Given the description of an element on the screen output the (x, y) to click on. 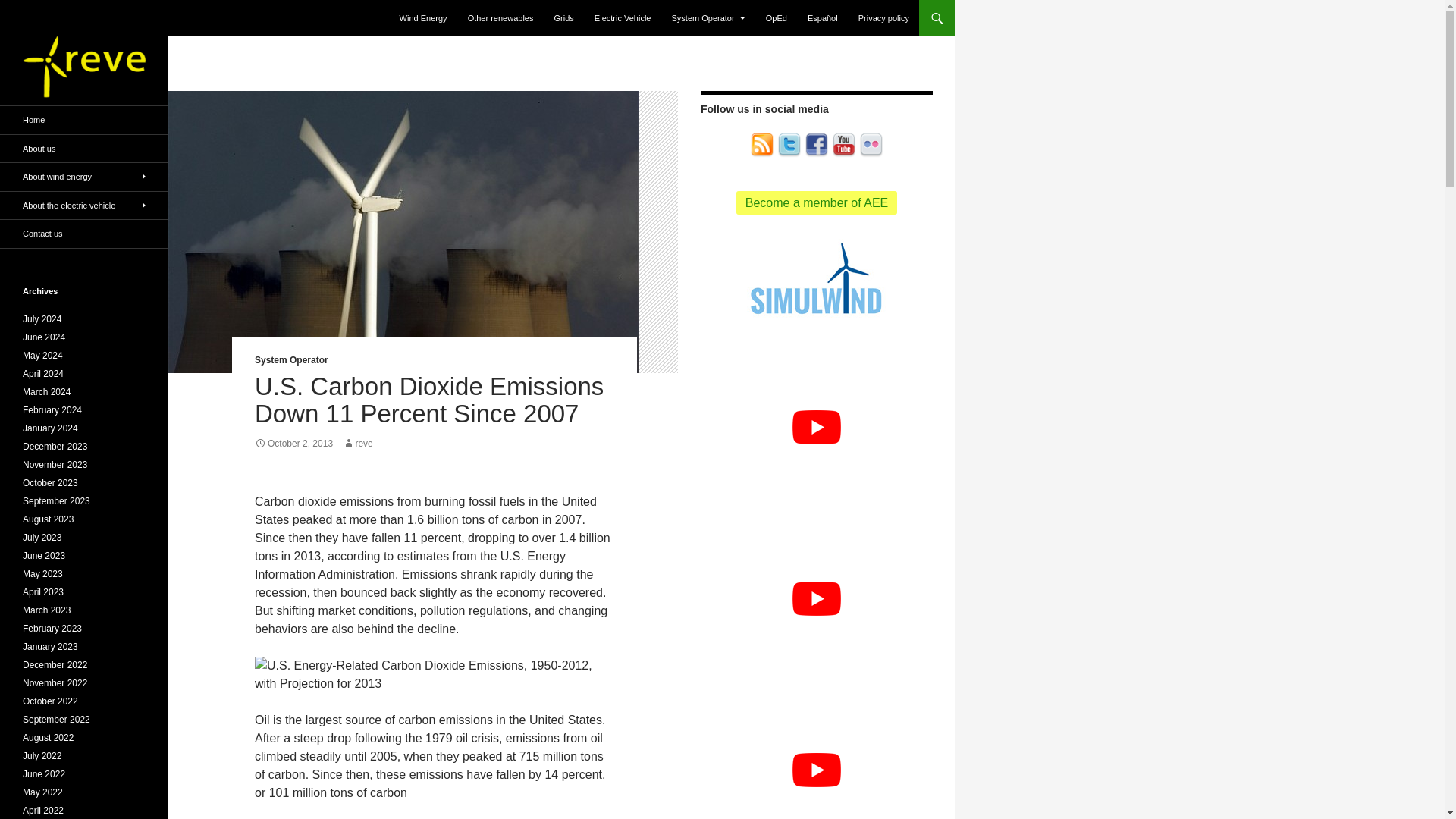
Become a member of AEE (817, 202)
System Operator (291, 359)
System Operator (708, 18)
youtube (843, 144)
twitter (789, 145)
Privacy policy (883, 18)
October 2, 2013 (293, 443)
RSS (762, 144)
facebook (816, 144)
facebook (816, 145)
Other renewables (500, 18)
twitter (789, 144)
flickr (871, 144)
Grids (563, 18)
youtube (843, 145)
